Given the description of an element on the screen output the (x, y) to click on. 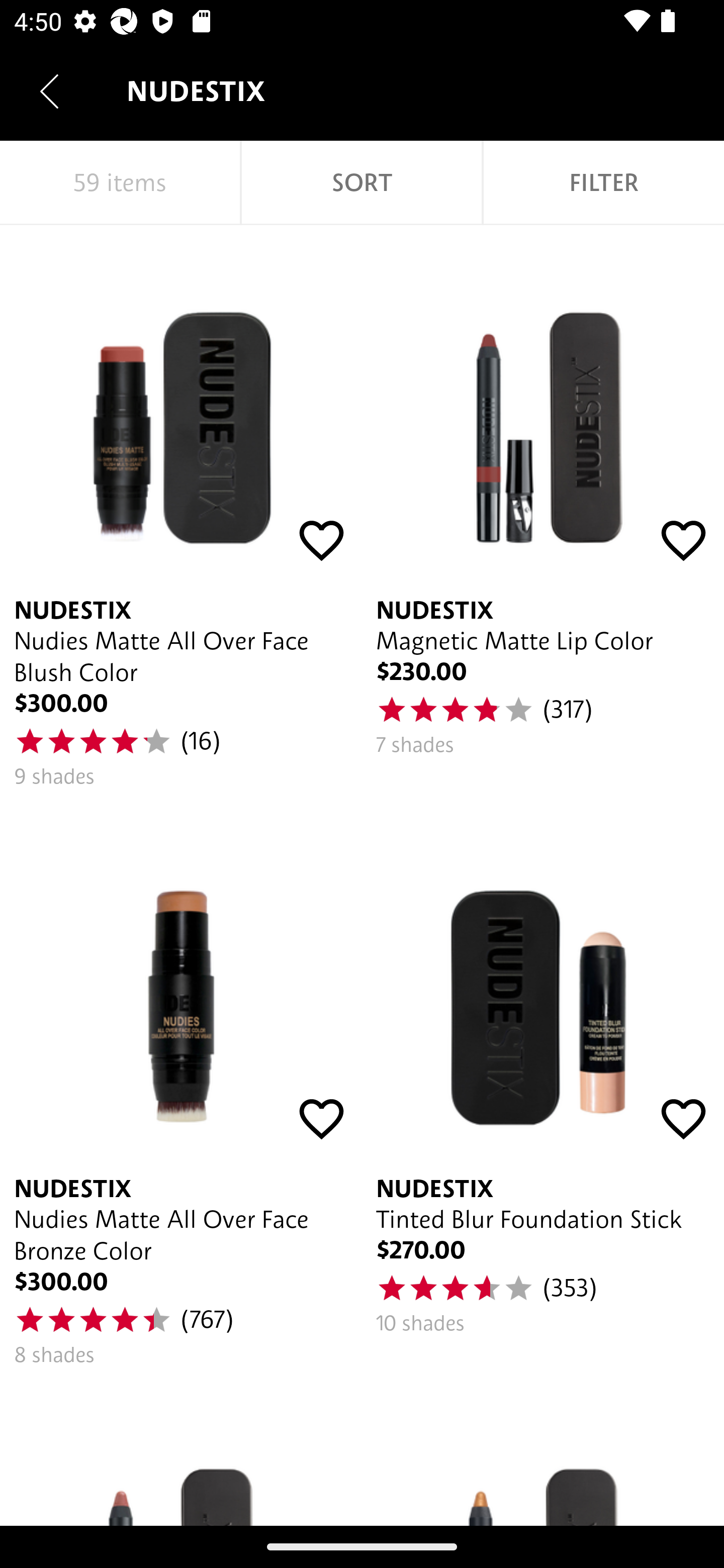
Navigate up (49, 91)
SORT (361, 183)
FILTER (603, 183)
